Given the description of an element on the screen output the (x, y) to click on. 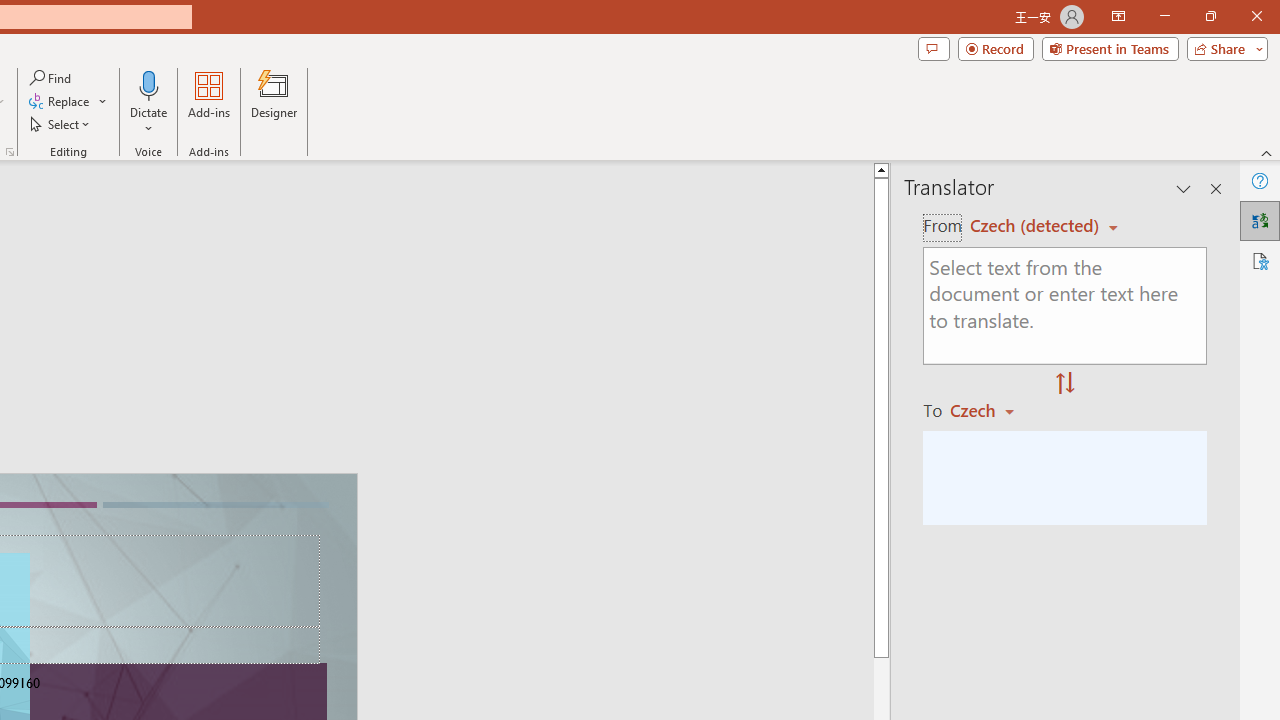
Czech (detected) (1037, 225)
Czech (991, 409)
